Given the description of an element on the screen output the (x, y) to click on. 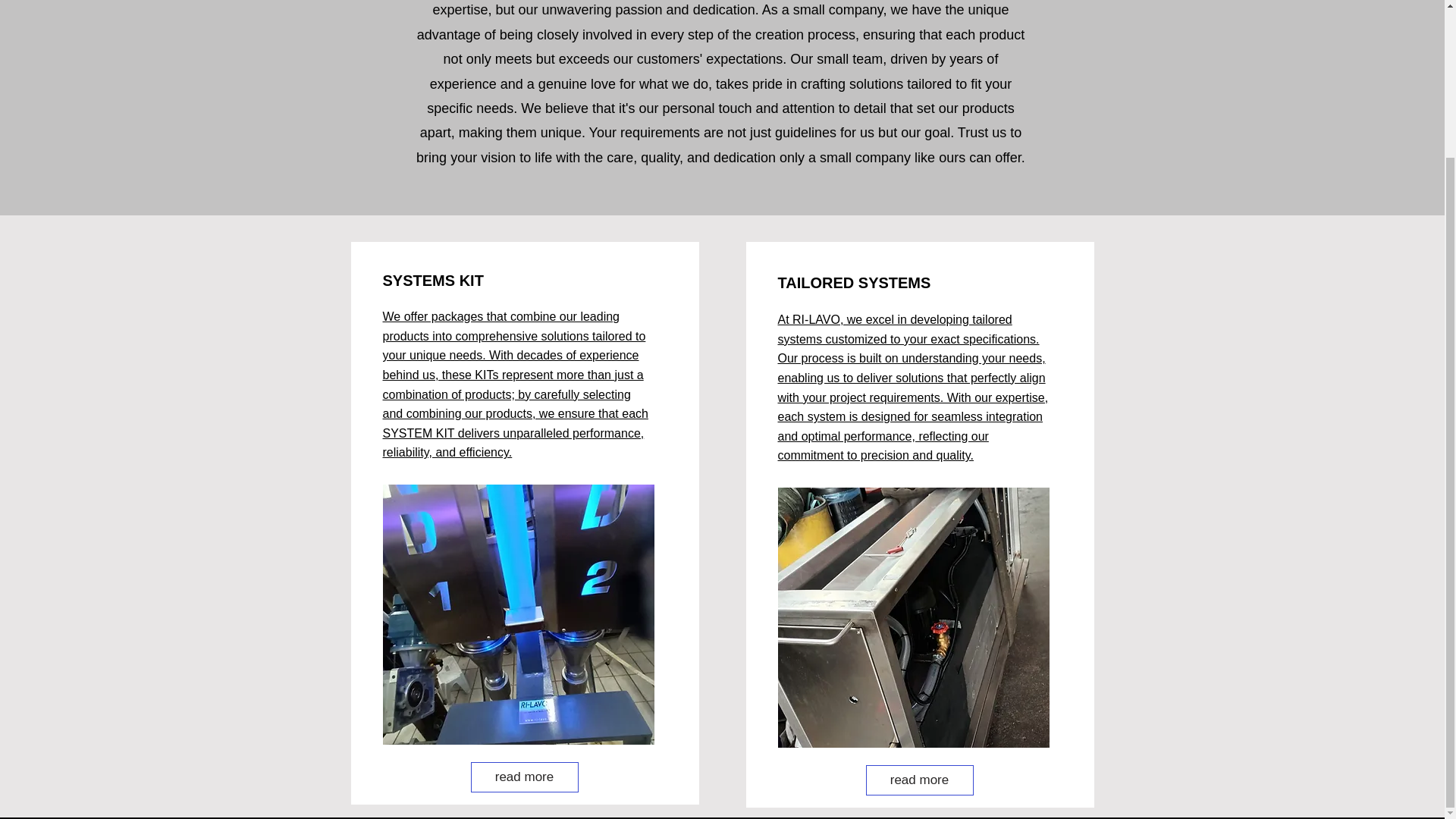
SYSTEMS KIT (432, 280)
TAILORED SYSTEMS (854, 282)
read more (524, 777)
read more (920, 779)
